Given the description of an element on the screen output the (x, y) to click on. 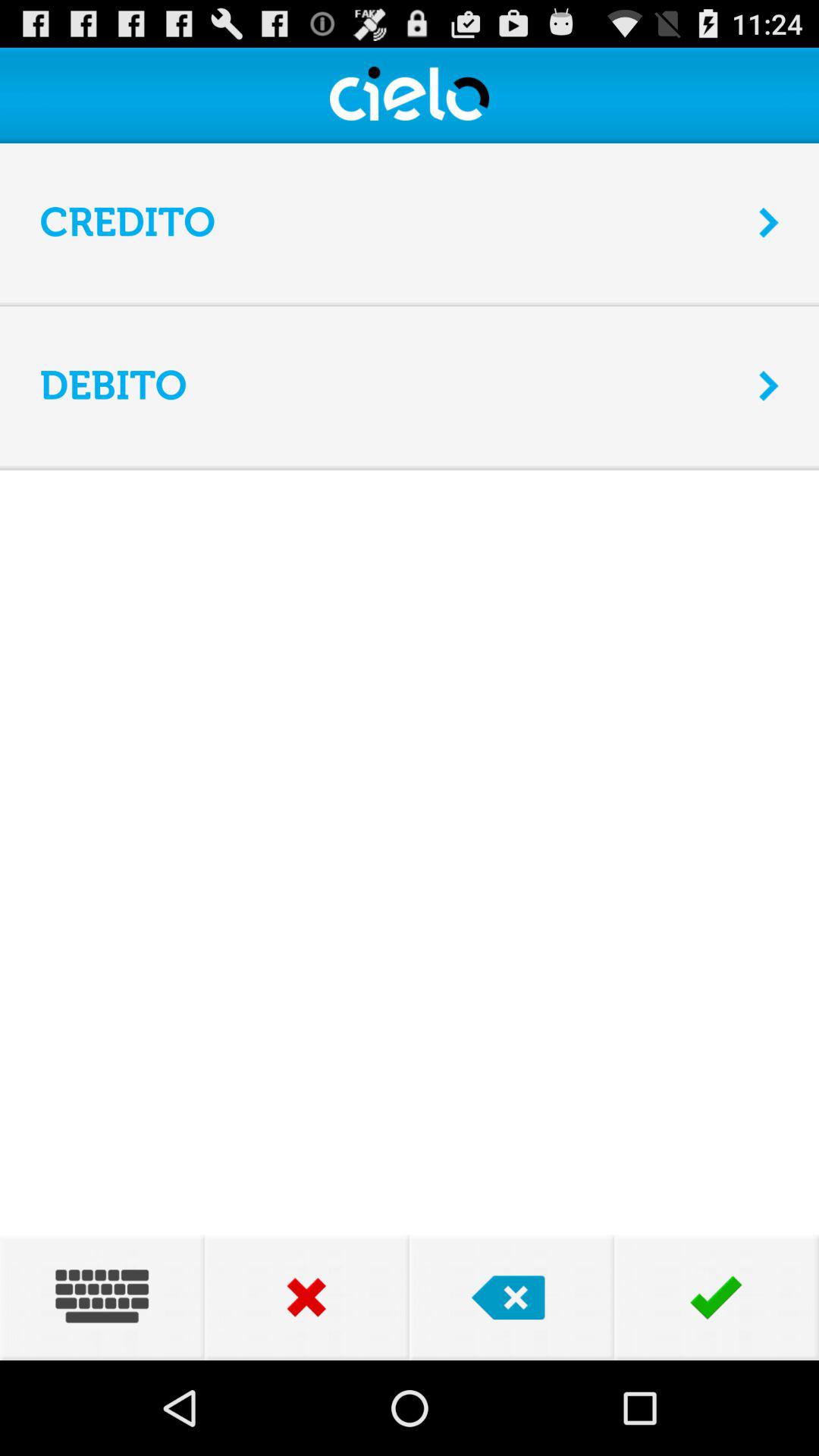
select the debito item (389, 385)
